Given the description of an element on the screen output the (x, y) to click on. 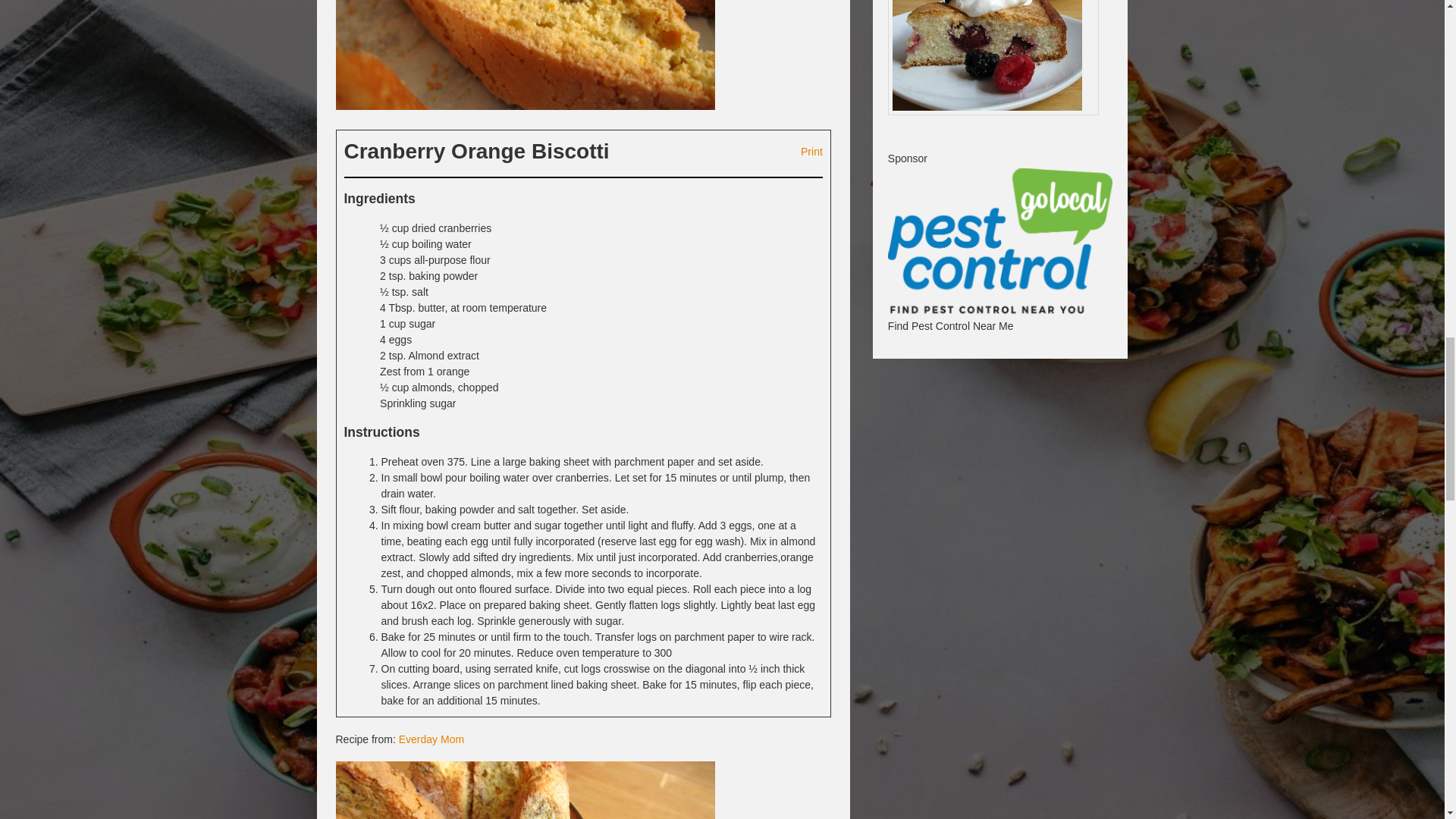
Print this recipe (804, 149)
Print (804, 149)
Everday Mom (431, 739)
cranberry orange biscotti (524, 790)
cranberry orange biscotti (524, 54)
